Given the description of an element on the screen output the (x, y) to click on. 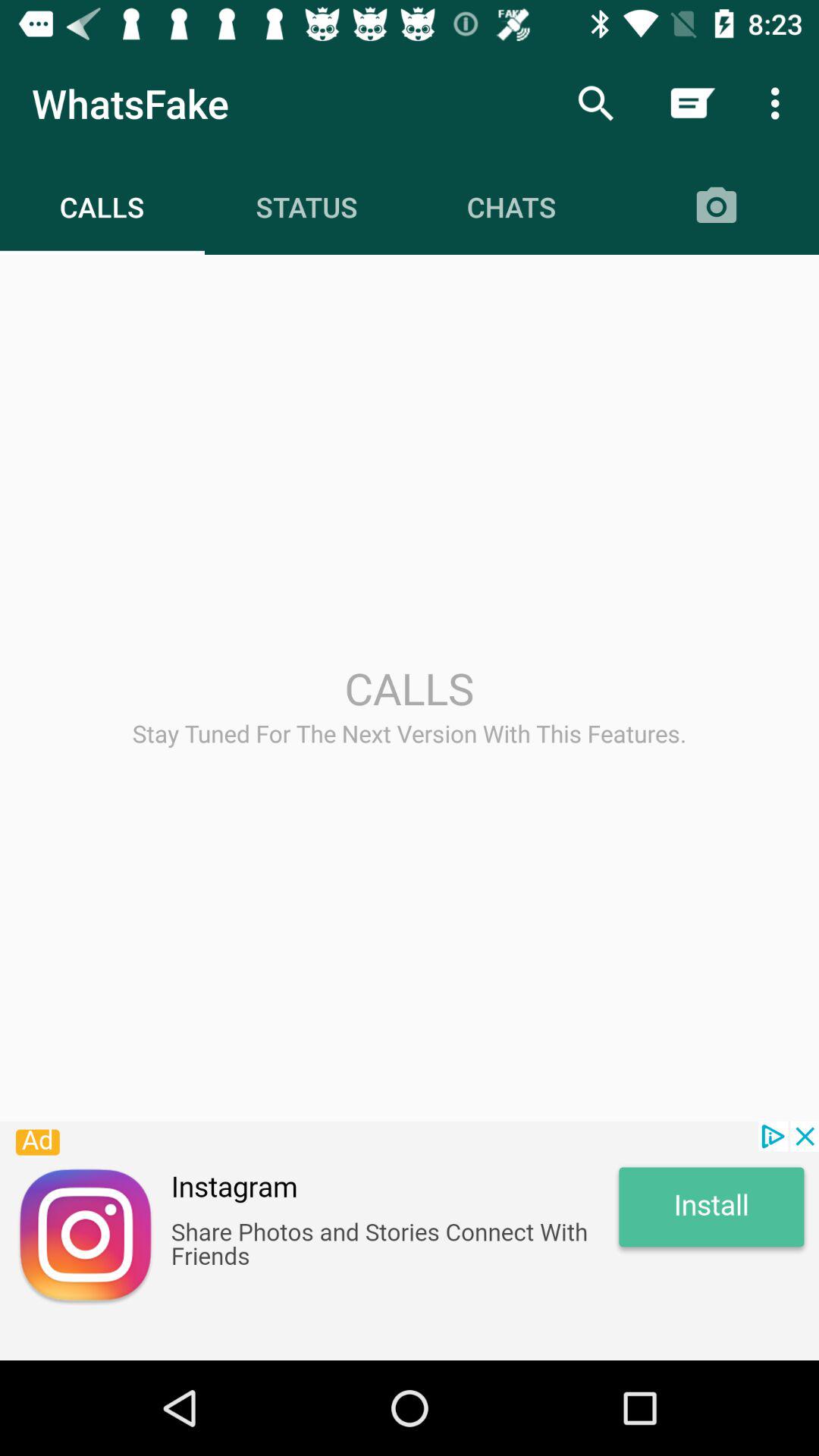
share the article (409, 1240)
